Given the description of an element on the screen output the (x, y) to click on. 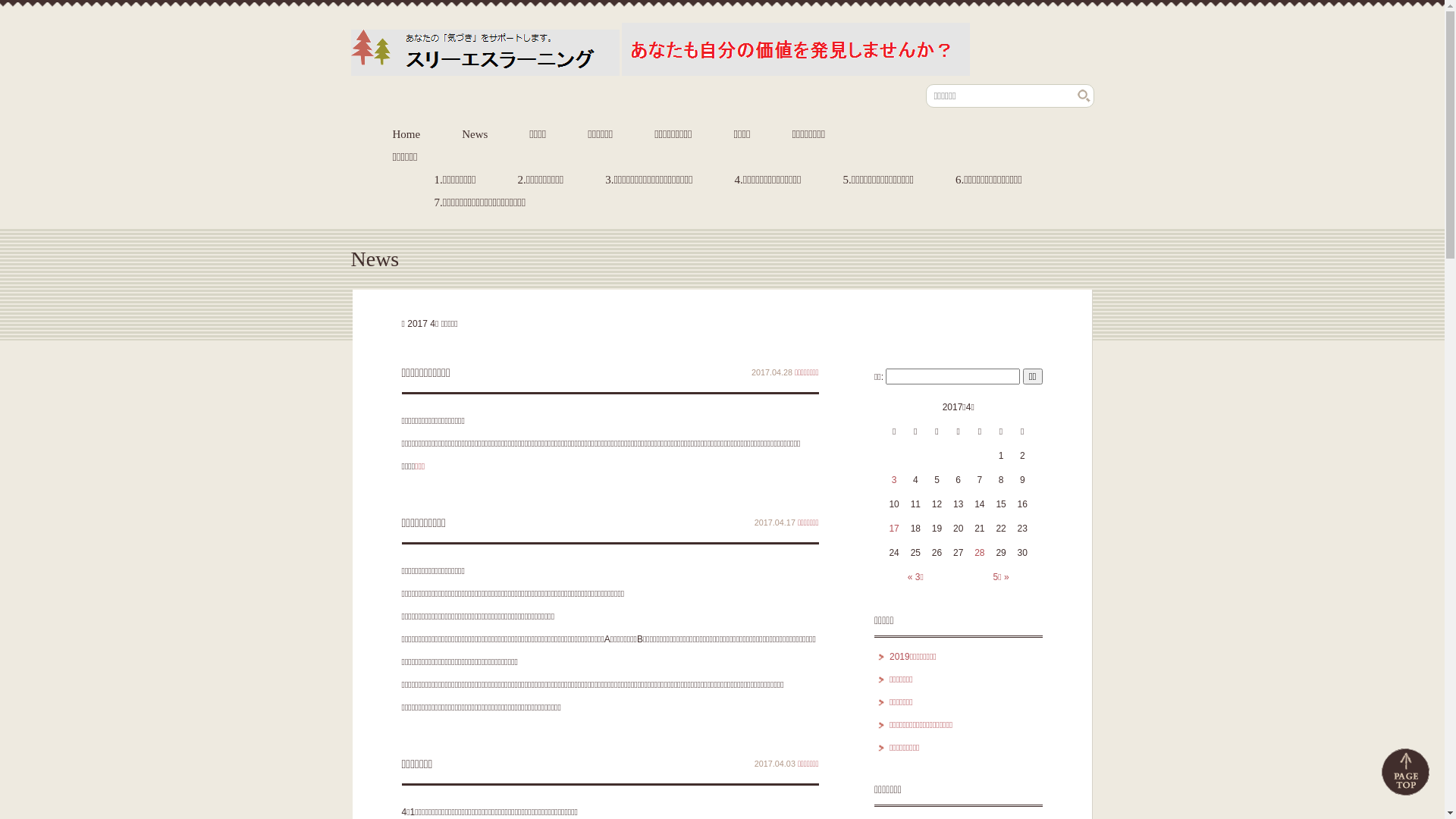
28 Element type: text (979, 552)
News Element type: text (474, 134)
17 Element type: text (893, 528)
3 Element type: text (894, 479)
Home Element type: text (406, 134)
